Given the description of an element on the screen output the (x, y) to click on. 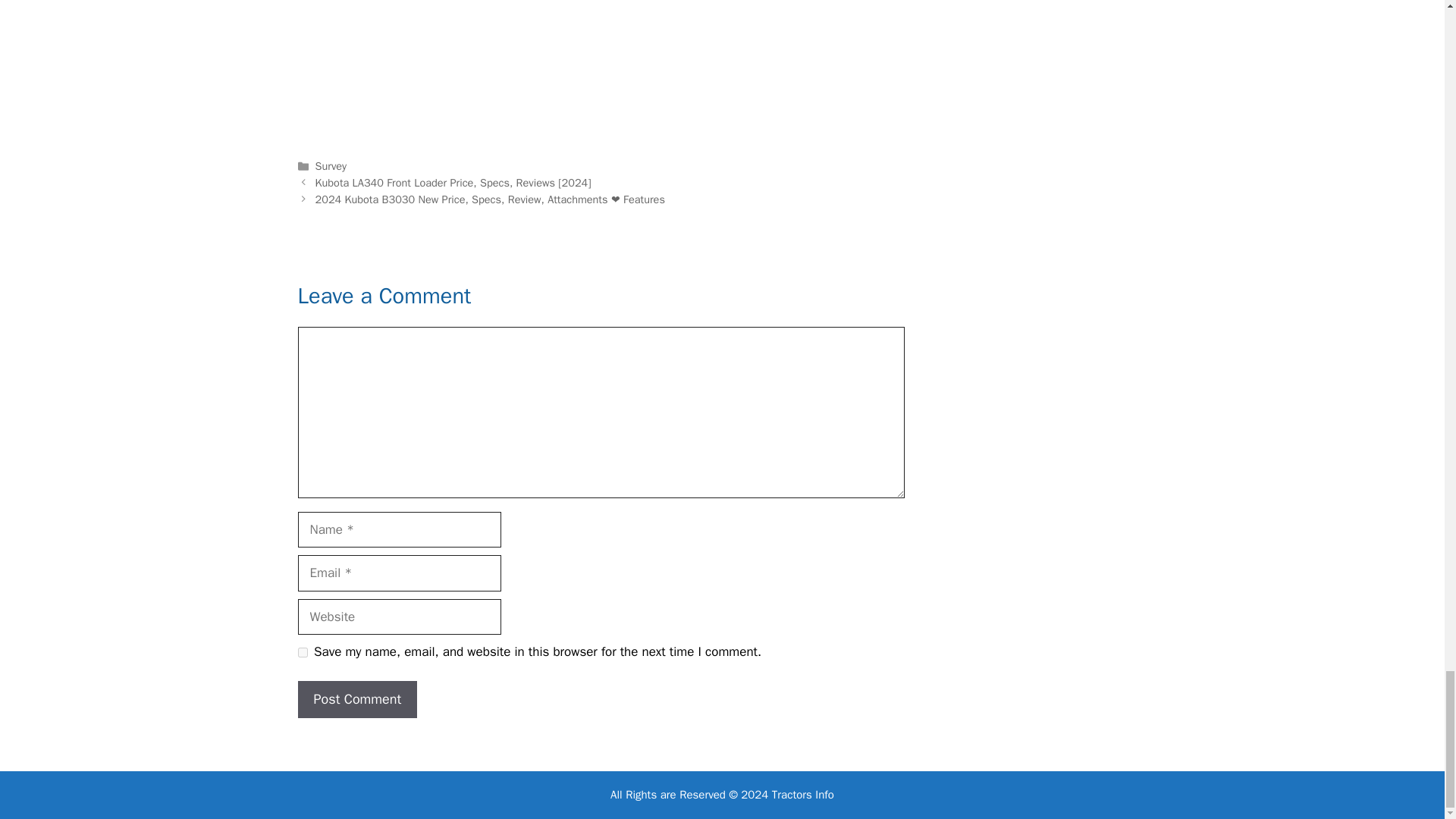
Post Comment (356, 699)
yes (302, 651)
Post Comment (356, 699)
Survey (331, 165)
